Given the description of an element on the screen output the (x, y) to click on. 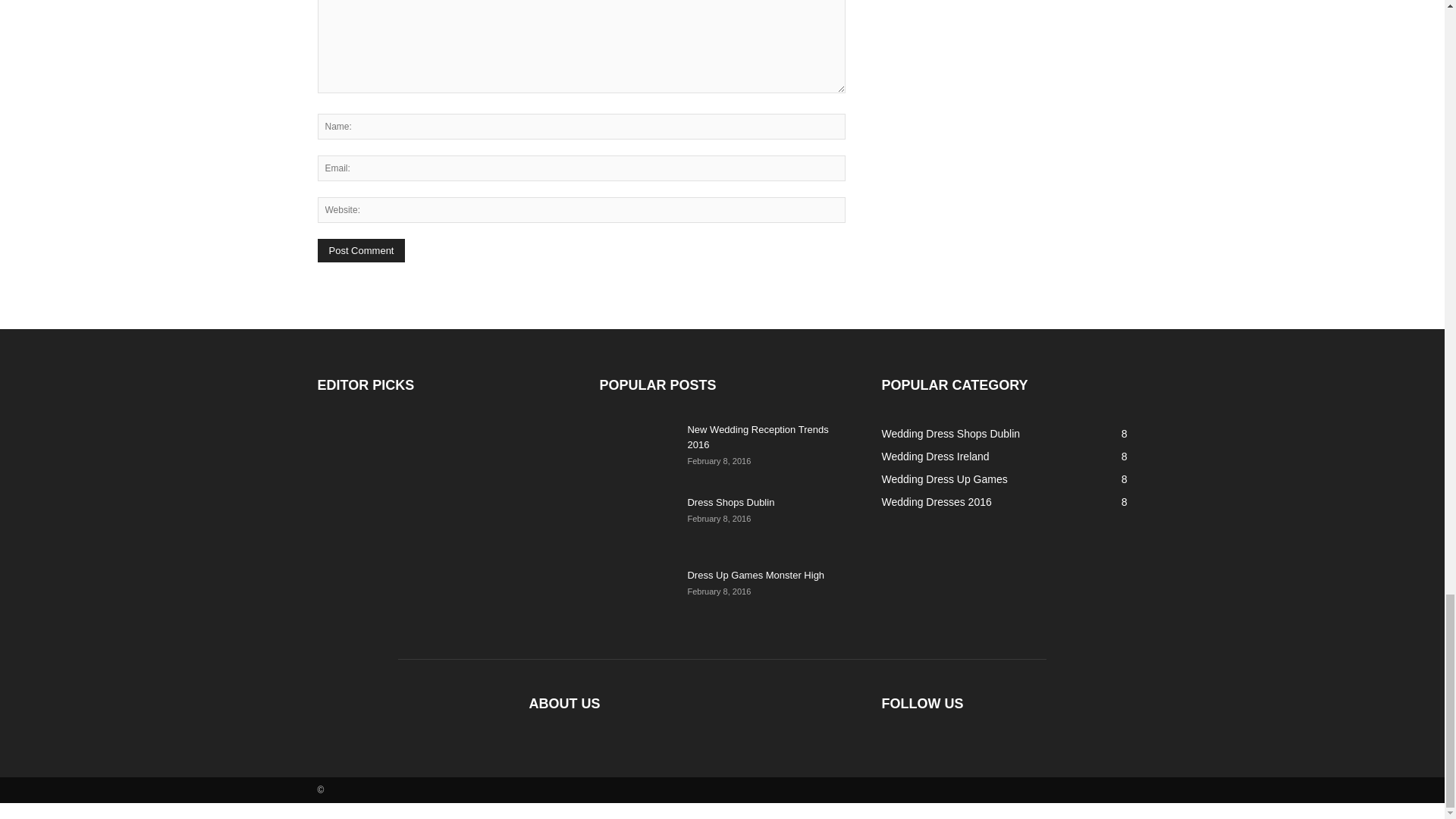
Post Comment (360, 250)
Post Comment (360, 250)
New Wedding Reception Trends 2016 (757, 437)
New Wedding Reception Trends 2016 (757, 437)
Dress Shops Dublin (730, 501)
Dress Up Games Monster High (755, 574)
Dress Shops Dublin (636, 521)
New Wedding Reception Trends 2016 (636, 448)
Dress Up Games Monster High (636, 594)
